Given the description of an element on the screen output the (x, y) to click on. 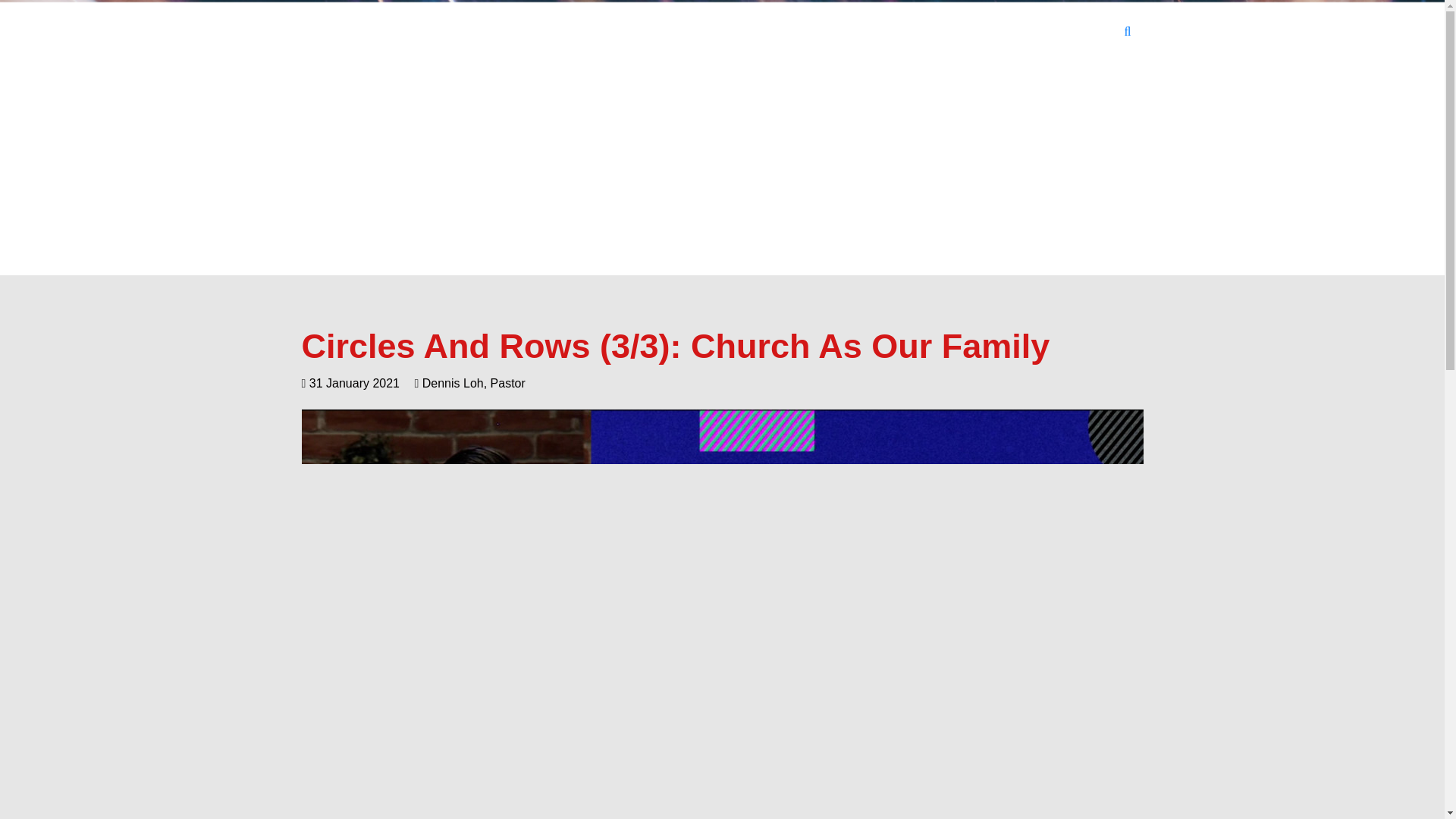
Give (1038, 31)
Visit Us (726, 31)
Give (1038, 31)
Care (1087, 31)
Next Step (851, 31)
About (785, 31)
Media (986, 31)
About (785, 31)
Back to HOPE Singapore Home Page. (342, 35)
Media (986, 31)
Care (1087, 31)
Next Step (851, 31)
Missions (924, 31)
Missions (924, 31)
Visit Us (726, 31)
